Given the description of an element on the screen output the (x, y) to click on. 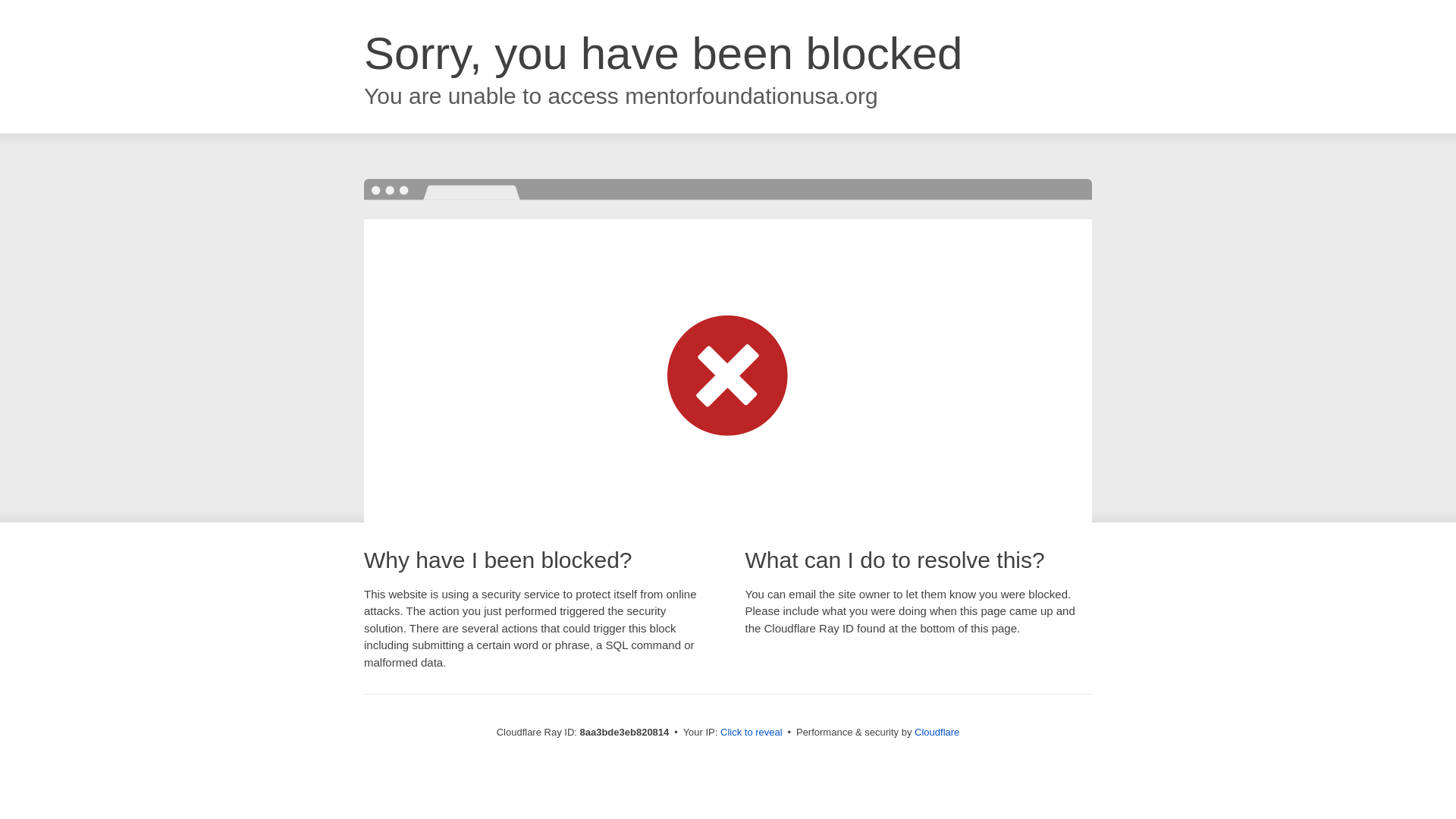
Click to reveal (751, 732)
Cloudflare (936, 731)
